Given the description of an element on the screen output the (x, y) to click on. 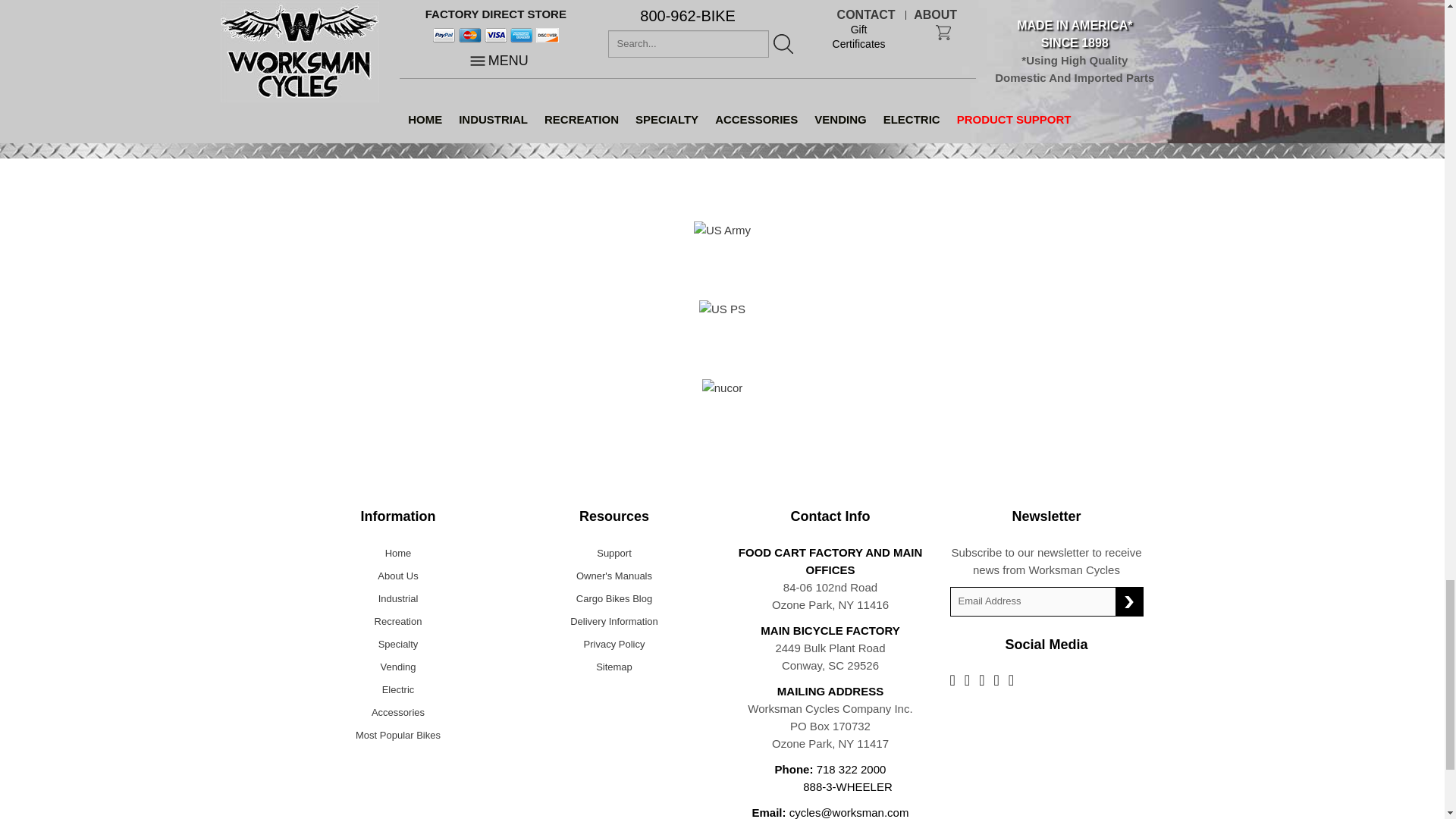
submit (1128, 601)
Email Address (1033, 601)
